Given the description of an element on the screen output the (x, y) to click on. 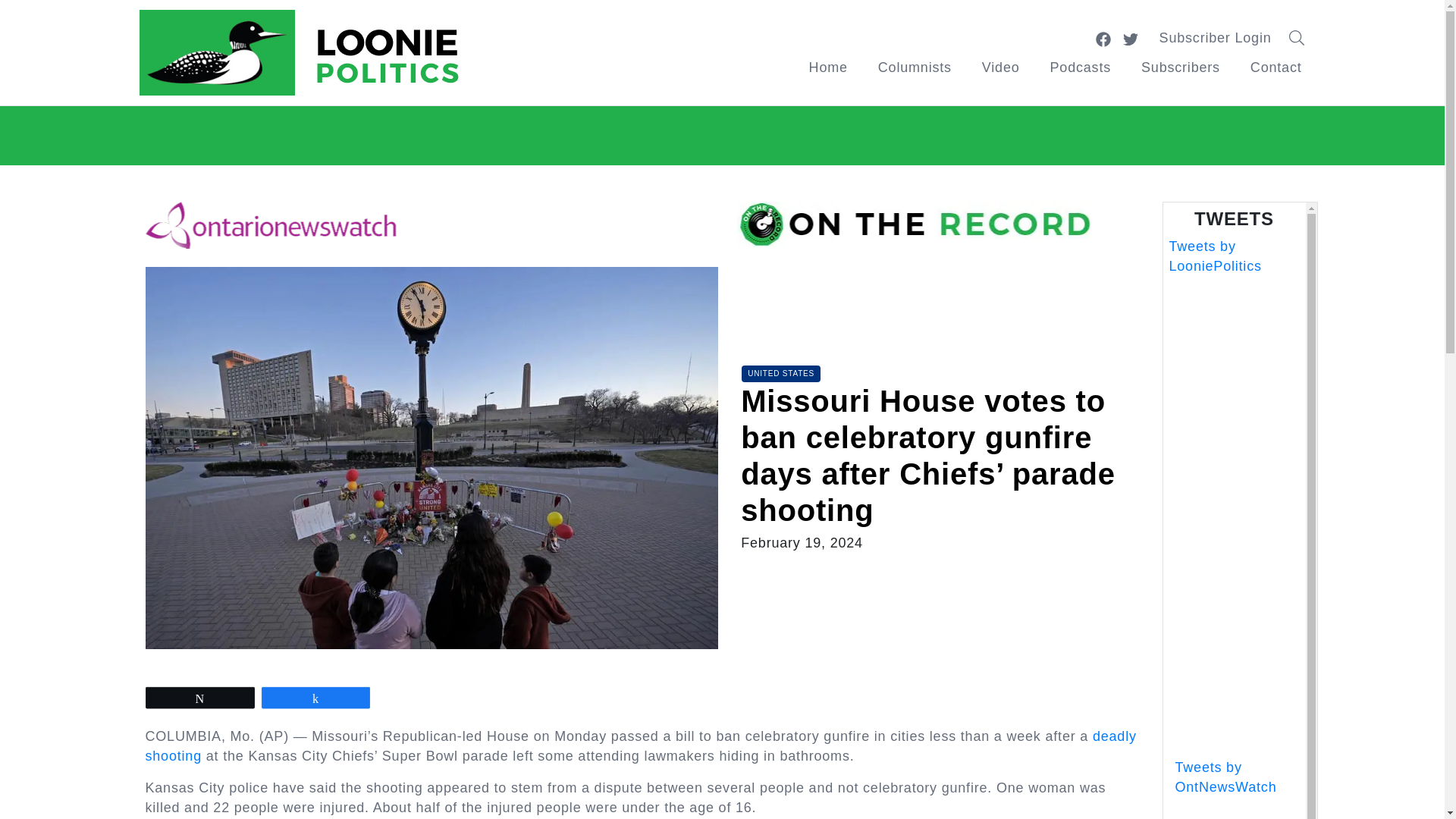
Click to Search (1301, 37)
Tweets by LooniePolitics (1215, 256)
Subscriber Login (1215, 37)
Podcasts (1080, 67)
Video (1000, 67)
Columnists (914, 67)
Contact (1275, 67)
Subscribers (1179, 67)
Tweets by OntNewsWatch (1225, 777)
Home (828, 67)
deadly shooting (641, 745)
UNITED STATES (780, 373)
